Given the description of an element on the screen output the (x, y) to click on. 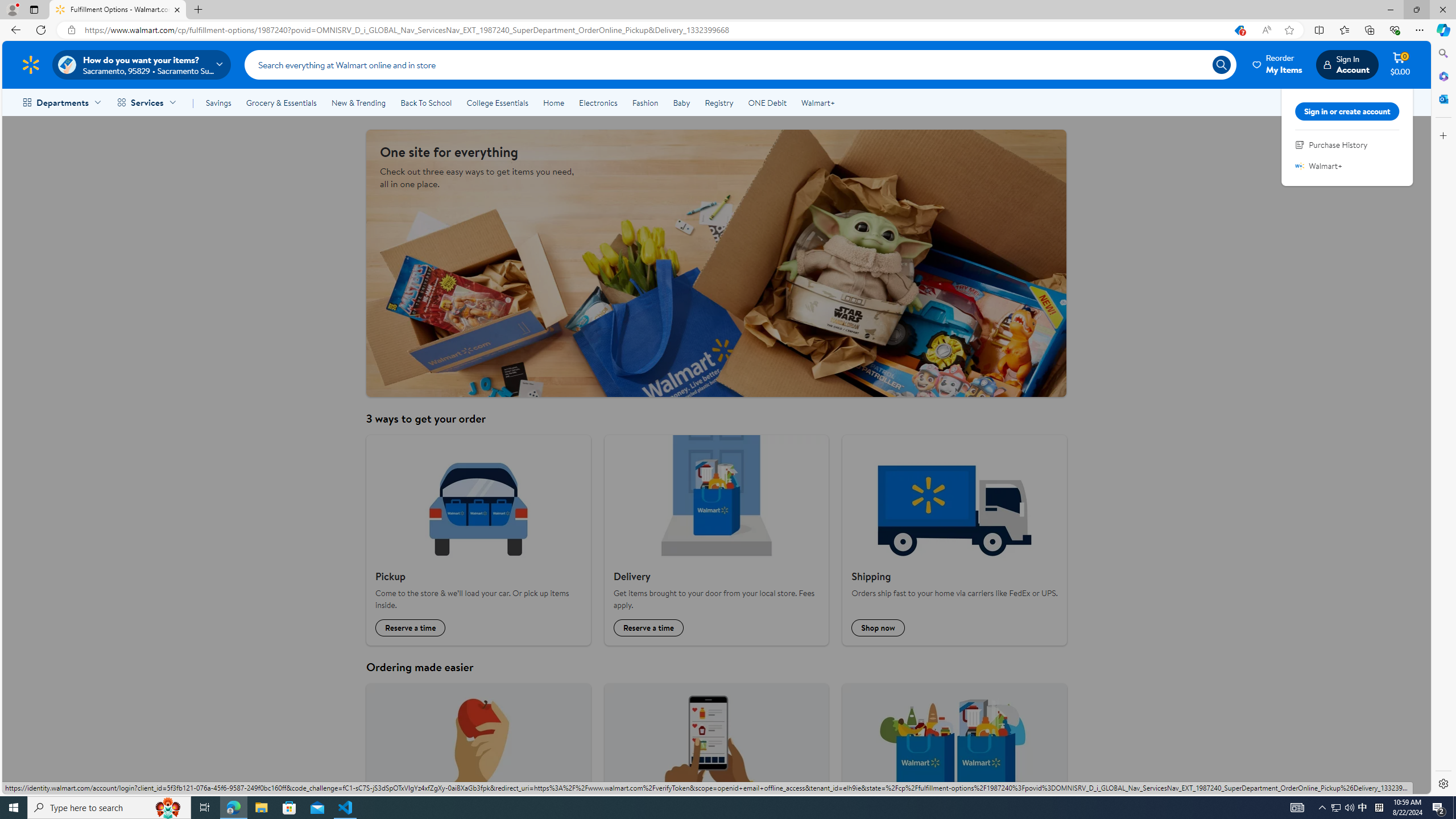
Cart contains 0 items Total Amount $0.00 (1399, 64)
ONE Debit (767, 102)
ONE Debit (767, 102)
